Given the description of an element on the screen output the (x, y) to click on. 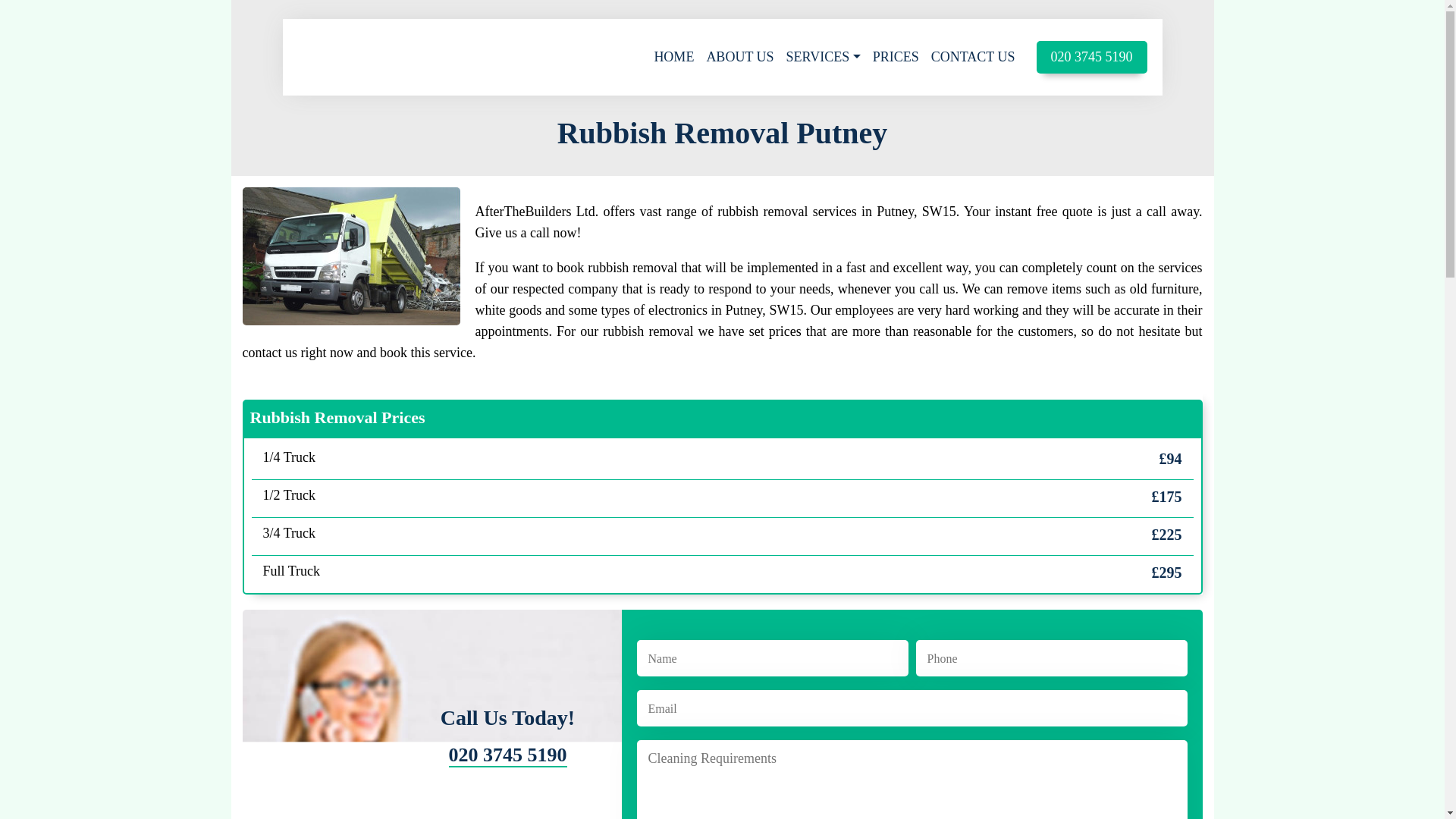
020 3745 5190 (507, 755)
020 3745 5190 (1091, 56)
CONTACT US (973, 57)
ABOUT US (739, 57)
SERVICES (823, 57)
HOME (673, 57)
PRICES (895, 57)
